Given the description of an element on the screen output the (x, y) to click on. 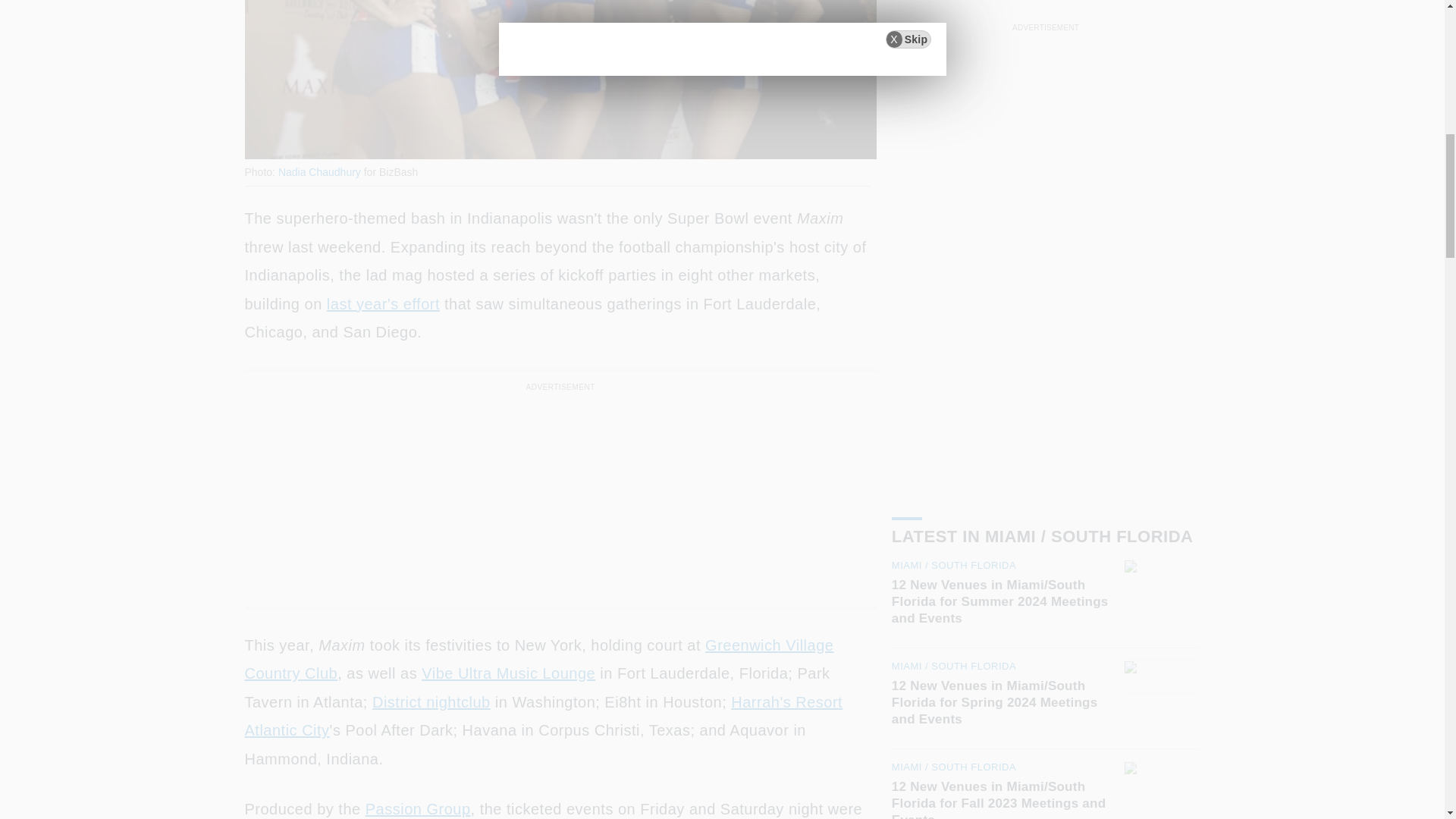
Share To print (259, 137)
Share To facebook (298, 137)
Share To linkedin (338, 137)
